Given the description of an element on the screen output the (x, y) to click on. 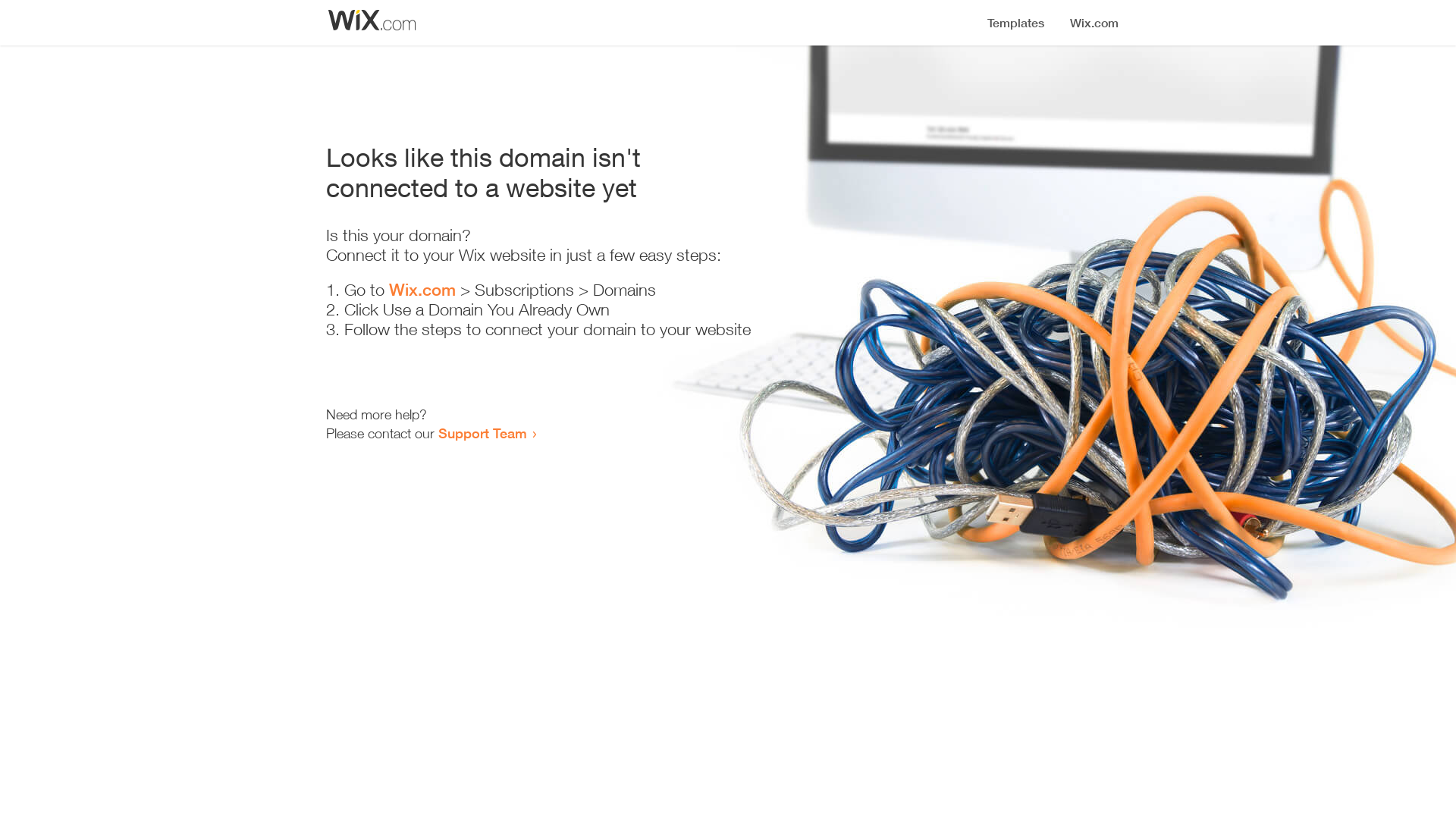
Support Team Element type: text (482, 432)
Wix.com Element type: text (422, 289)
